Given the description of an element on the screen output the (x, y) to click on. 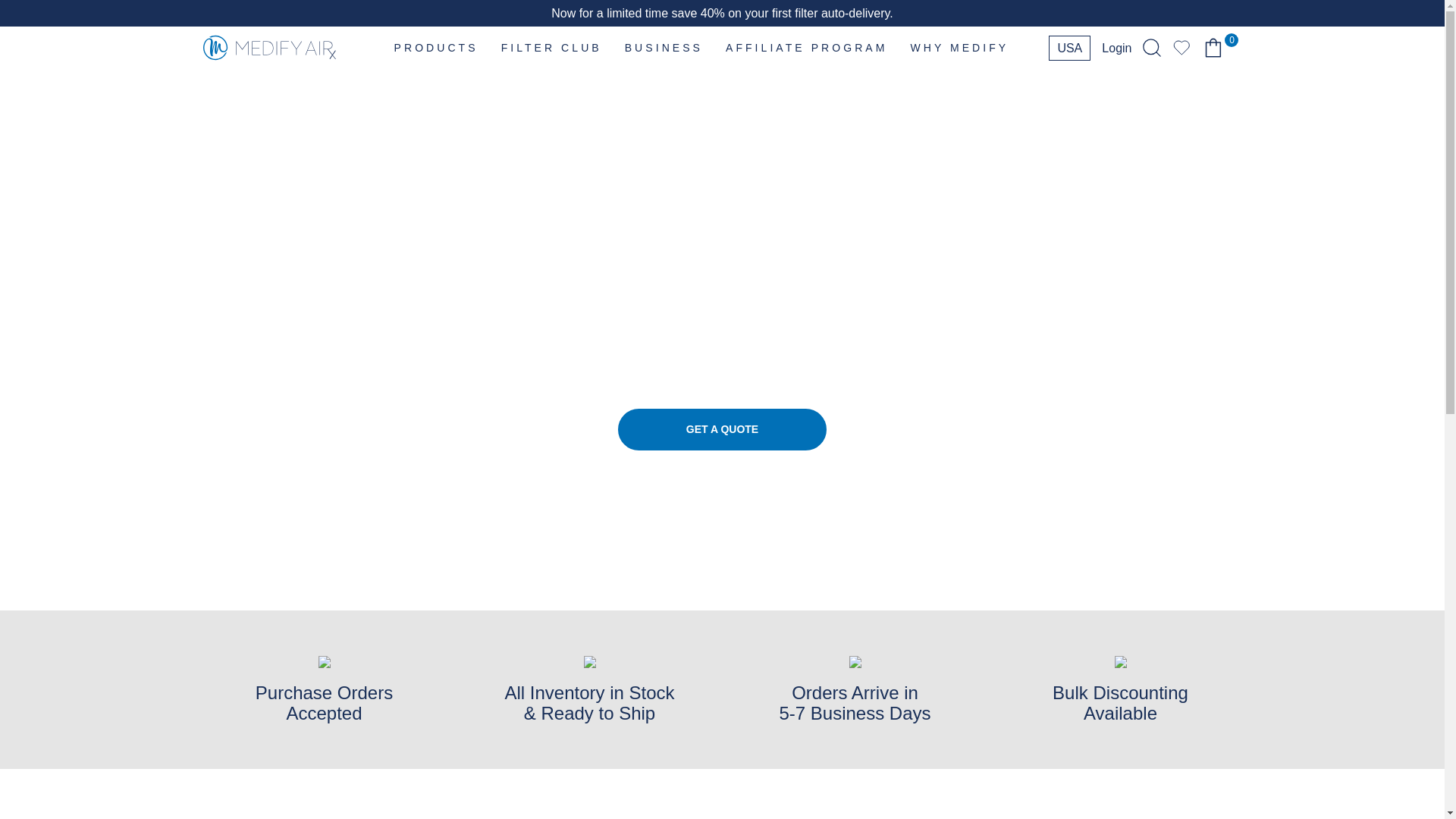
USA (1069, 47)
PRODUCTS (435, 47)
BUSINESS (663, 47)
AFFILIATE PROGRAM (806, 47)
FILTER CLUB (550, 47)
WHY MEDIFY (959, 47)
Medify Air (269, 47)
Login (1116, 47)
